Given the description of an element on the screen output the (x, y) to click on. 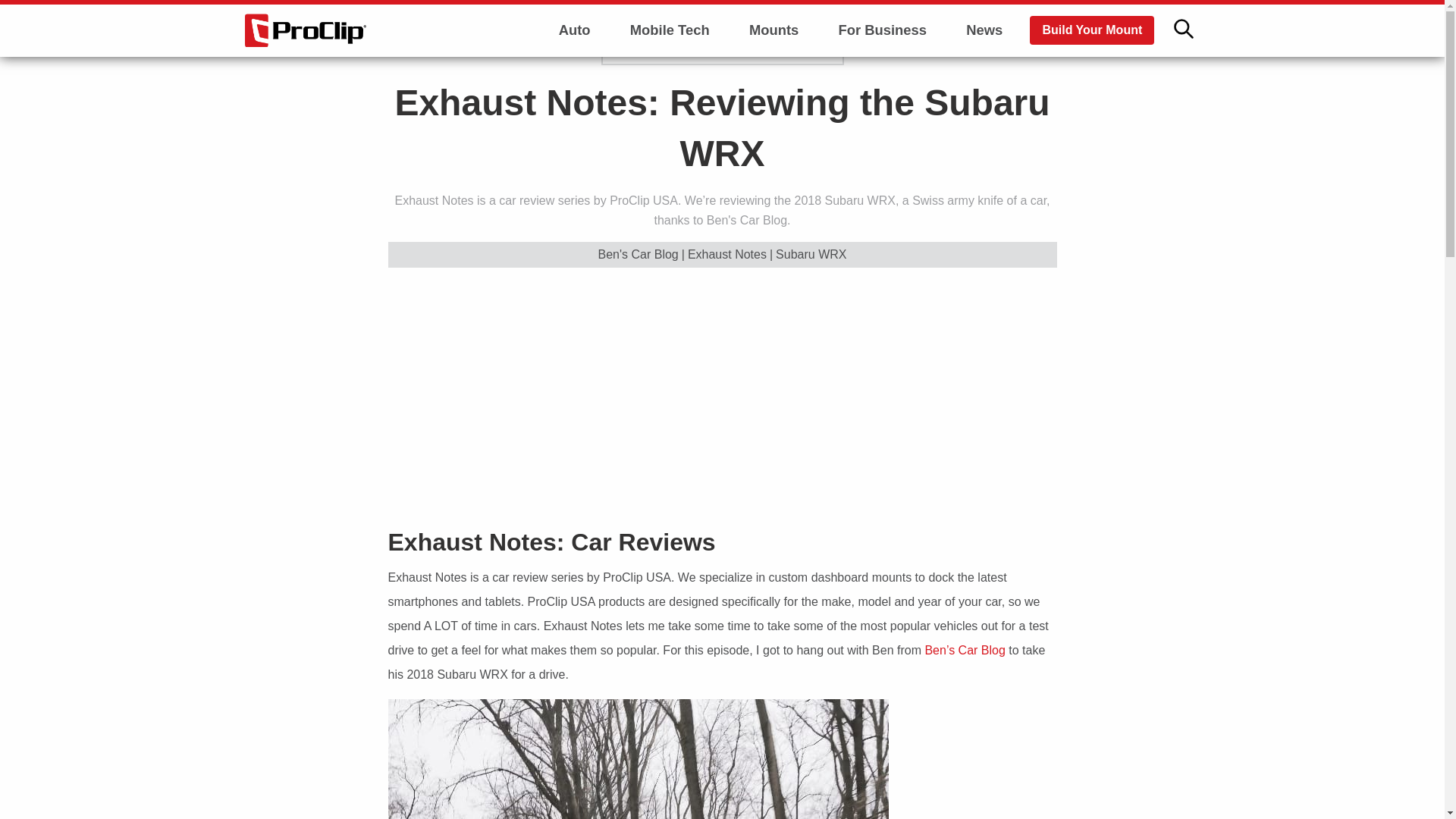
Phone Holders (774, 66)
News (983, 30)
Safety (574, 109)
Mounts (773, 30)
Apple (669, 66)
For Business (882, 30)
Build Your Mount (1091, 30)
Industry News (574, 66)
Android (669, 109)
Ben's Car Blog (638, 254)
